Given the description of an element on the screen output the (x, y) to click on. 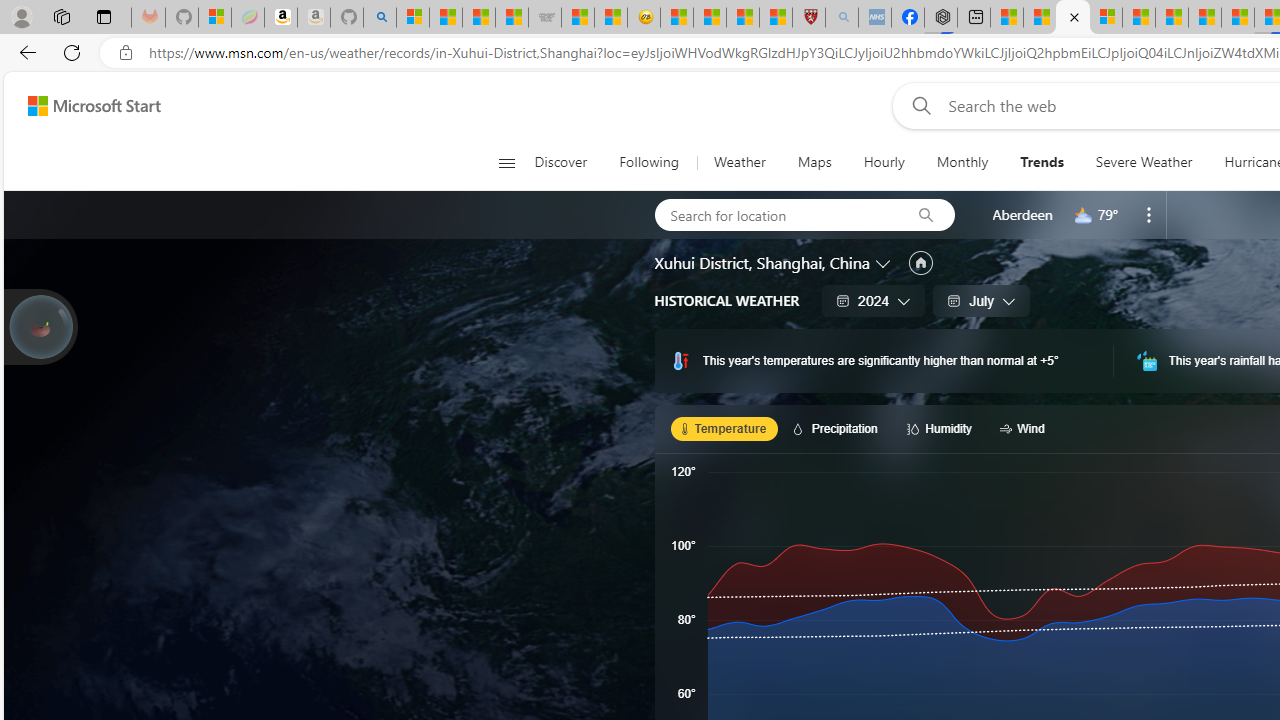
Temperature (724, 428)
Maps (813, 162)
Trends (1041, 162)
Severe Weather (1143, 162)
Set as primary location (920, 263)
Humidity (942, 428)
July (981, 300)
Monthly (962, 162)
